Given the description of an element on the screen output the (x, y) to click on. 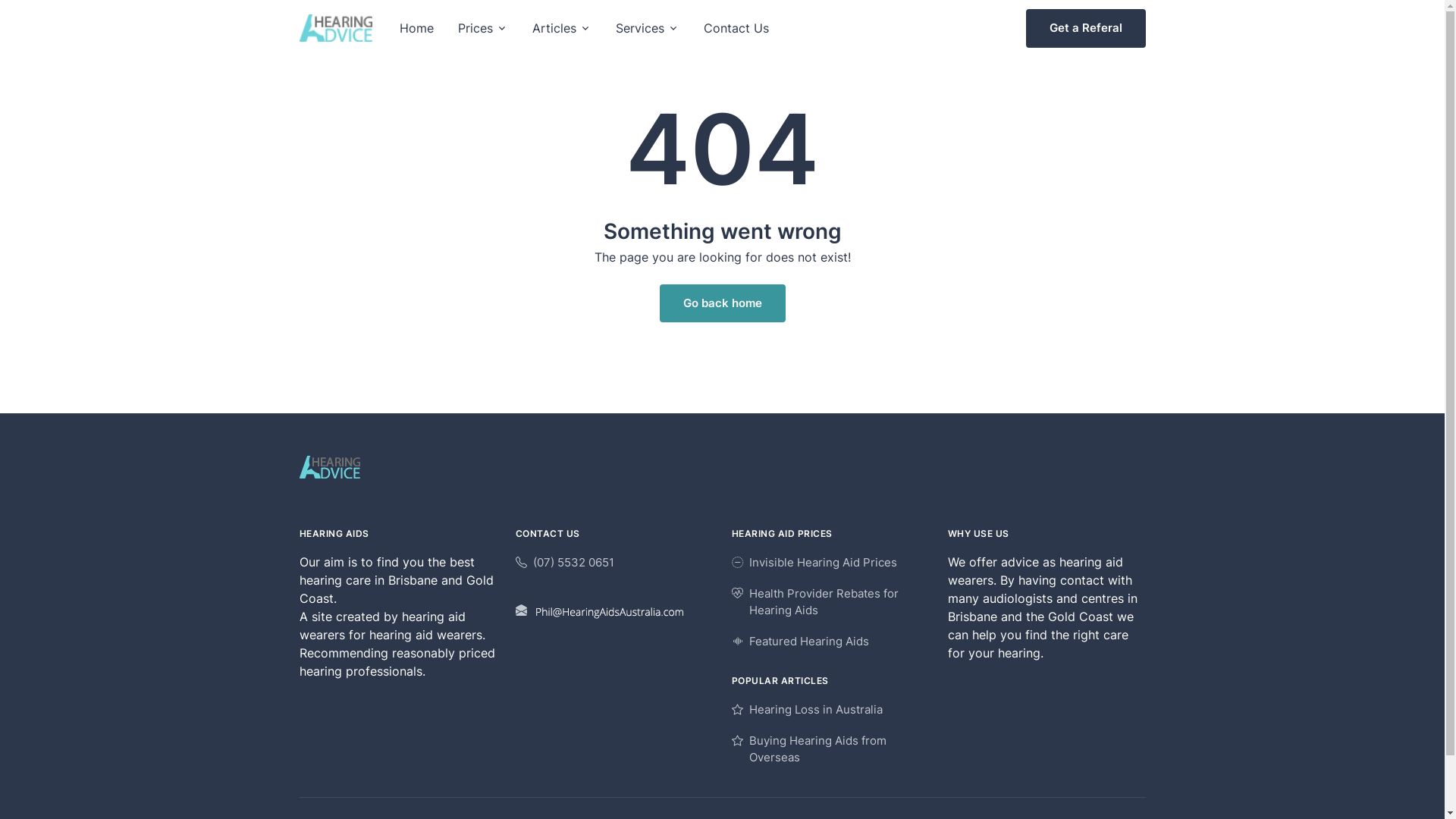
Invisible Hearing Aid Prices Element type: text (813, 562)
Get a Referal Element type: text (1085, 28)
Prices Element type: text (482, 27)
(07) 5532 0651 Element type: text (564, 562)
Hearing Loss in Australia Element type: text (806, 709)
Contact Us Element type: text (736, 27)
Articles Element type: text (561, 27)
Buying Hearing Aids from Overseas Element type: text (829, 749)
Health Provider Rebates for Hearing Aids Element type: text (829, 602)
Home Element type: text (415, 27)
Featured Hearing Aids Element type: text (799, 641)
Go back home Element type: text (722, 303)
Services Element type: text (647, 27)
